Given the description of an element on the screen output the (x, y) to click on. 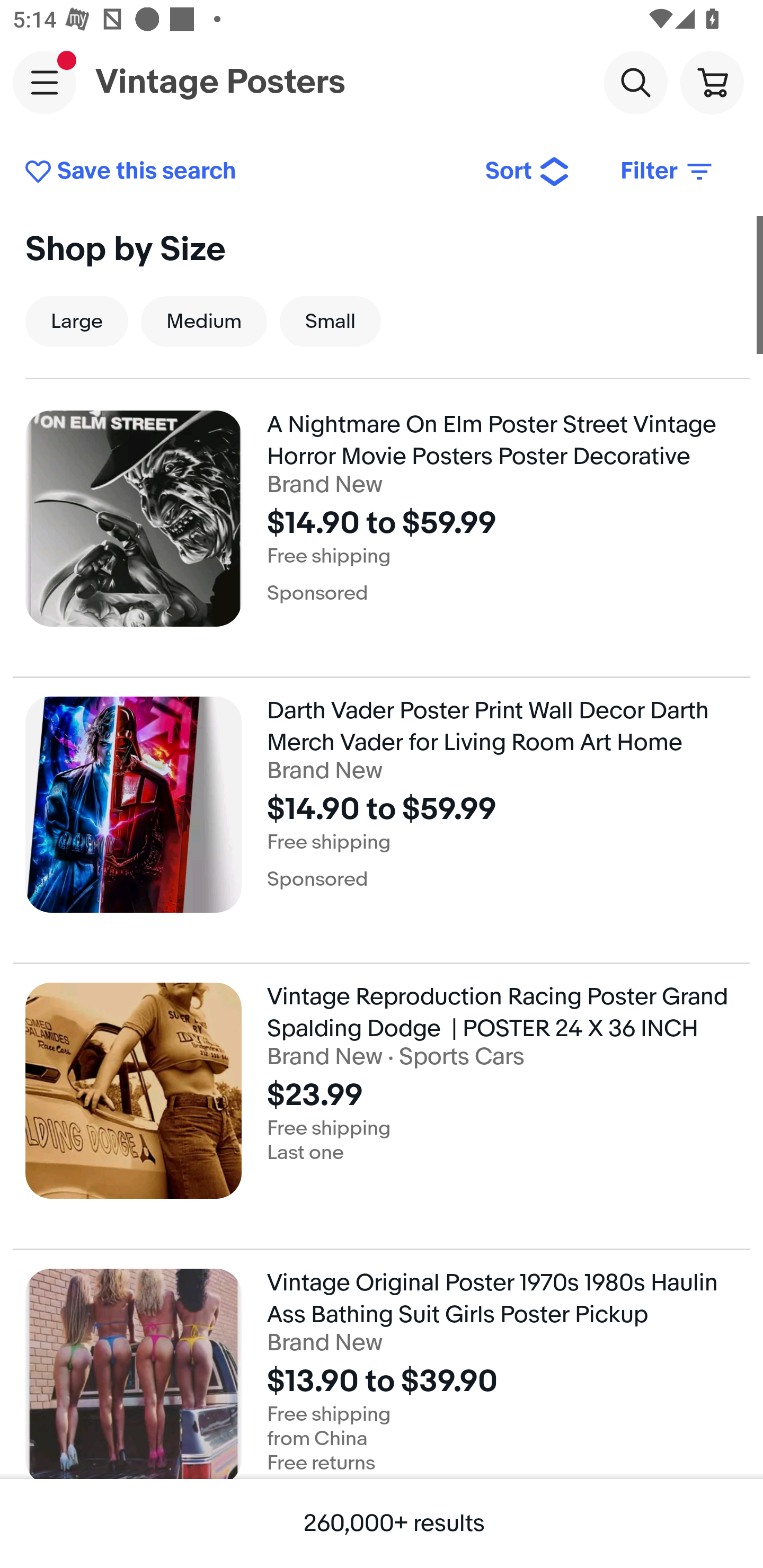
Main navigation, notification is pending, open (44, 82)
Search (635, 81)
Cart button shopping cart (711, 81)
Save this search (241, 171)
Sort (527, 171)
Filter (667, 171)
Large Large, Size (76, 321)
Medium Medium, Size (204, 321)
Small Small, Size (330, 321)
